Given the description of an element on the screen output the (x, y) to click on. 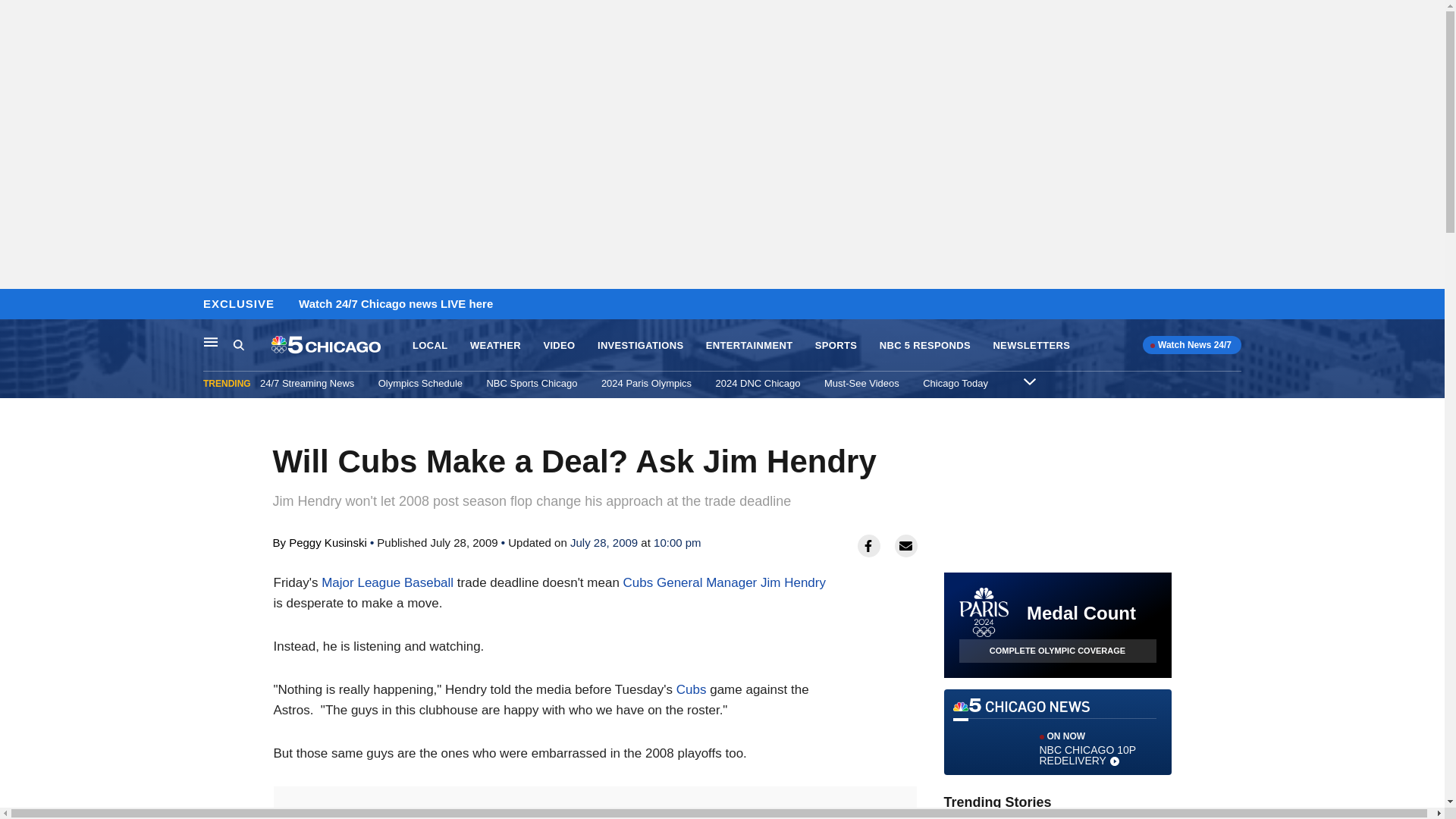
WEATHER (1056, 731)
2024 DNC Chicago (495, 345)
Chicago Today (758, 383)
LOCAL (955, 383)
Cubs (429, 345)
Jim Hendry (691, 689)
Expand (724, 582)
Search (1029, 381)
2024 Paris Olympics (252, 345)
